Given the description of an element on the screen output the (x, y) to click on. 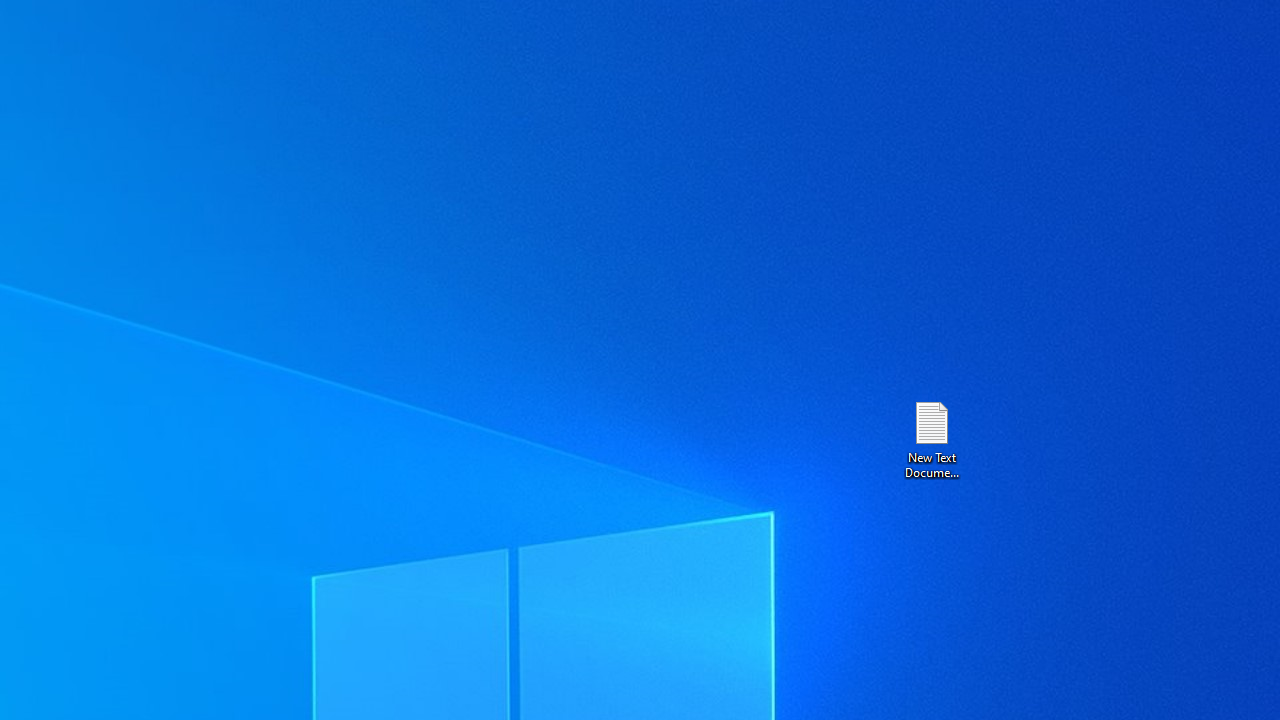
New Text Document (2) (931, 438)
